Given the description of an element on the screen output the (x, y) to click on. 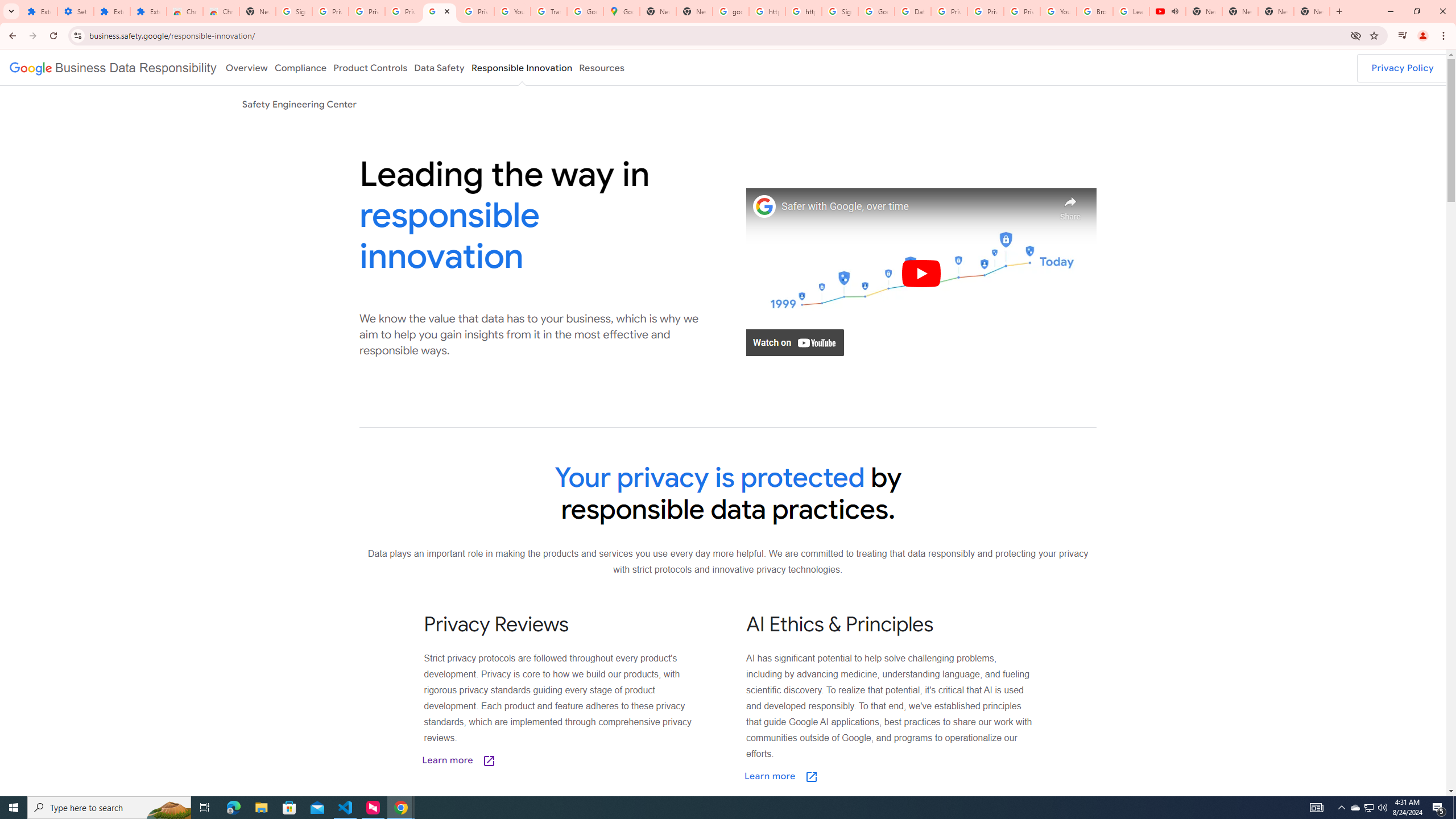
Watch on YouTube (794, 342)
YouTube (512, 11)
